Given the description of an element on the screen output the (x, y) to click on. 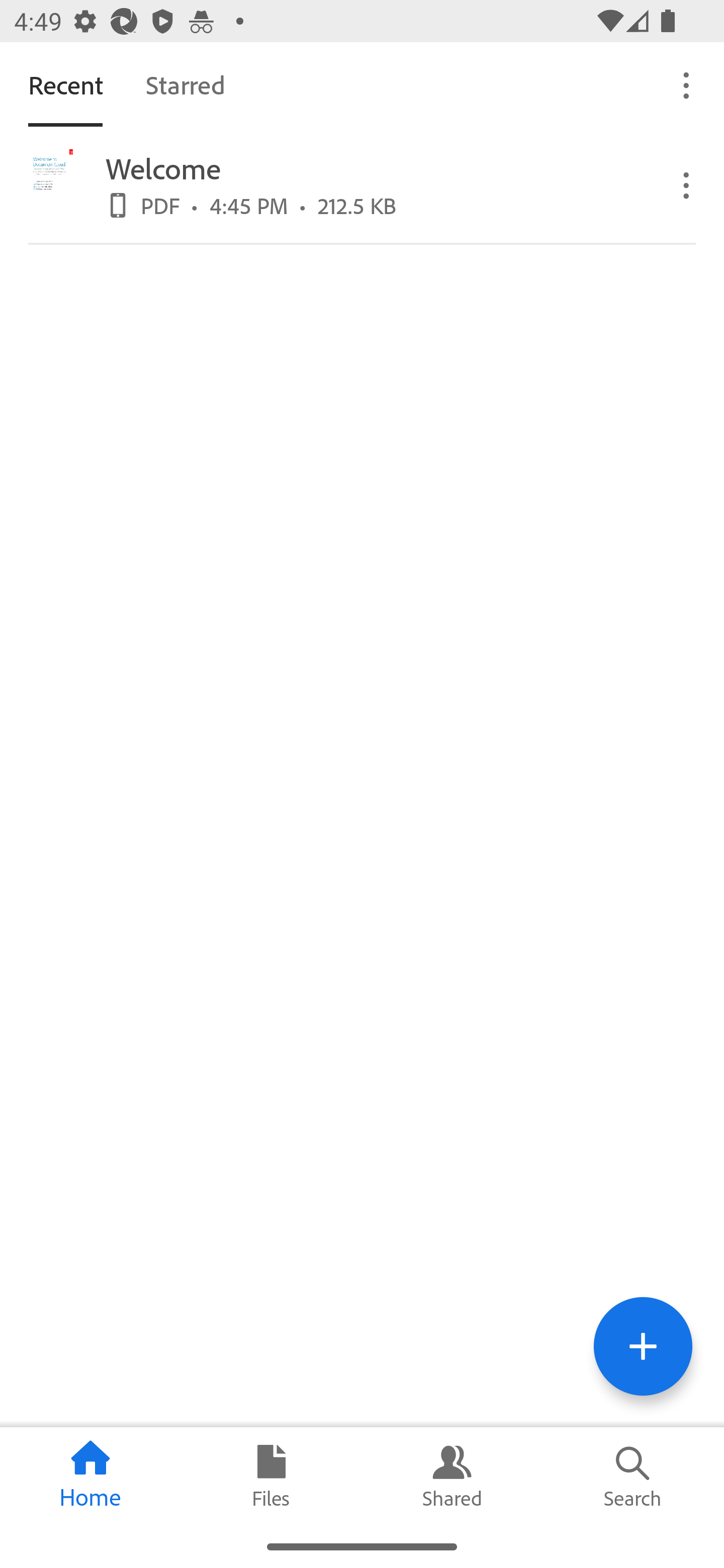
Recent (65, 84)
Starred (185, 84)
Overflow (687, 84)
Overflow (687, 184)
Tools (642, 1345)
Home (90, 1475)
Files (271, 1475)
Shared (452, 1475)
Search (633, 1475)
